Given the description of an element on the screen output the (x, y) to click on. 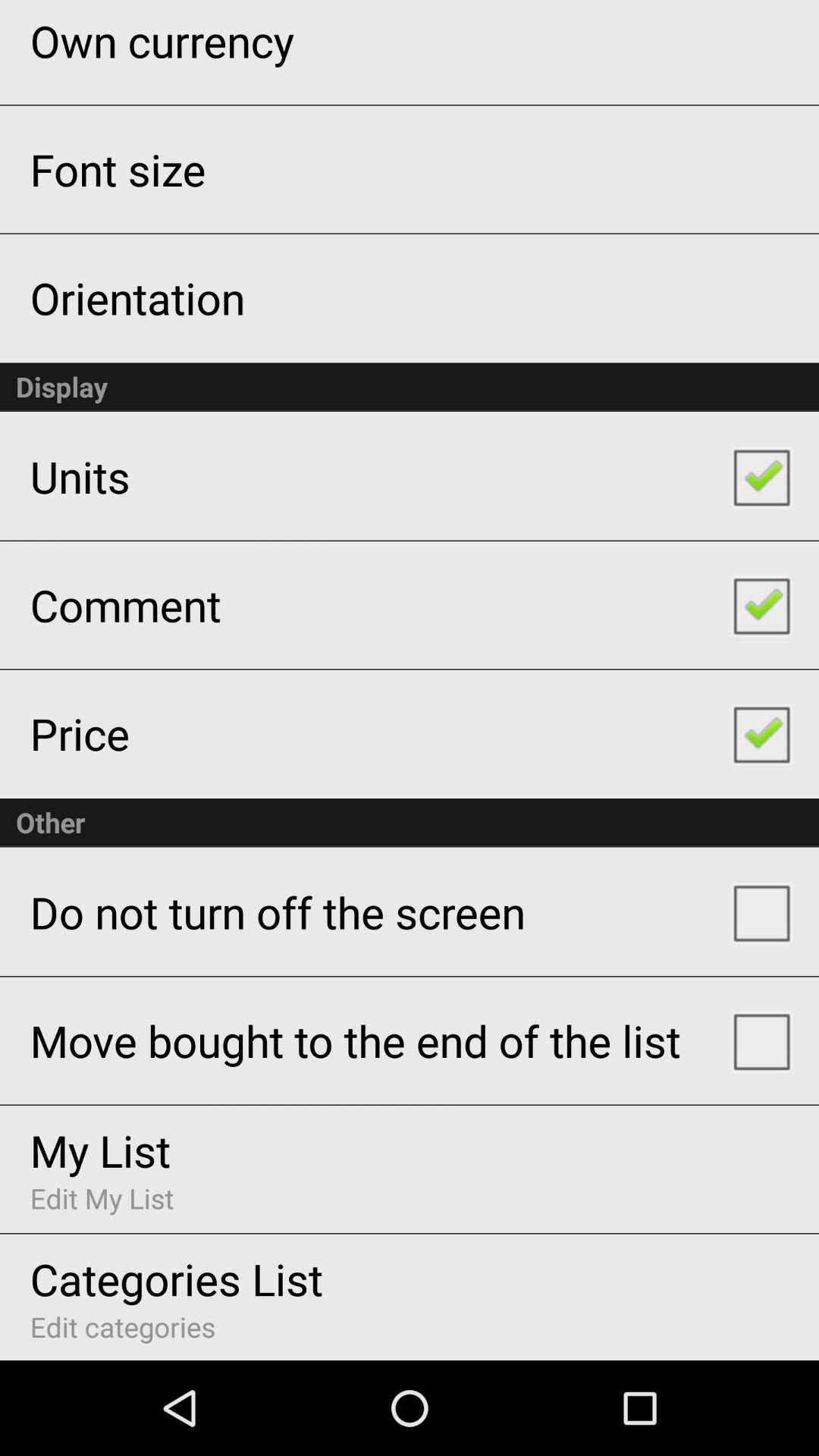
select app below display icon (80, 476)
